Given the description of an element on the screen output the (x, y) to click on. 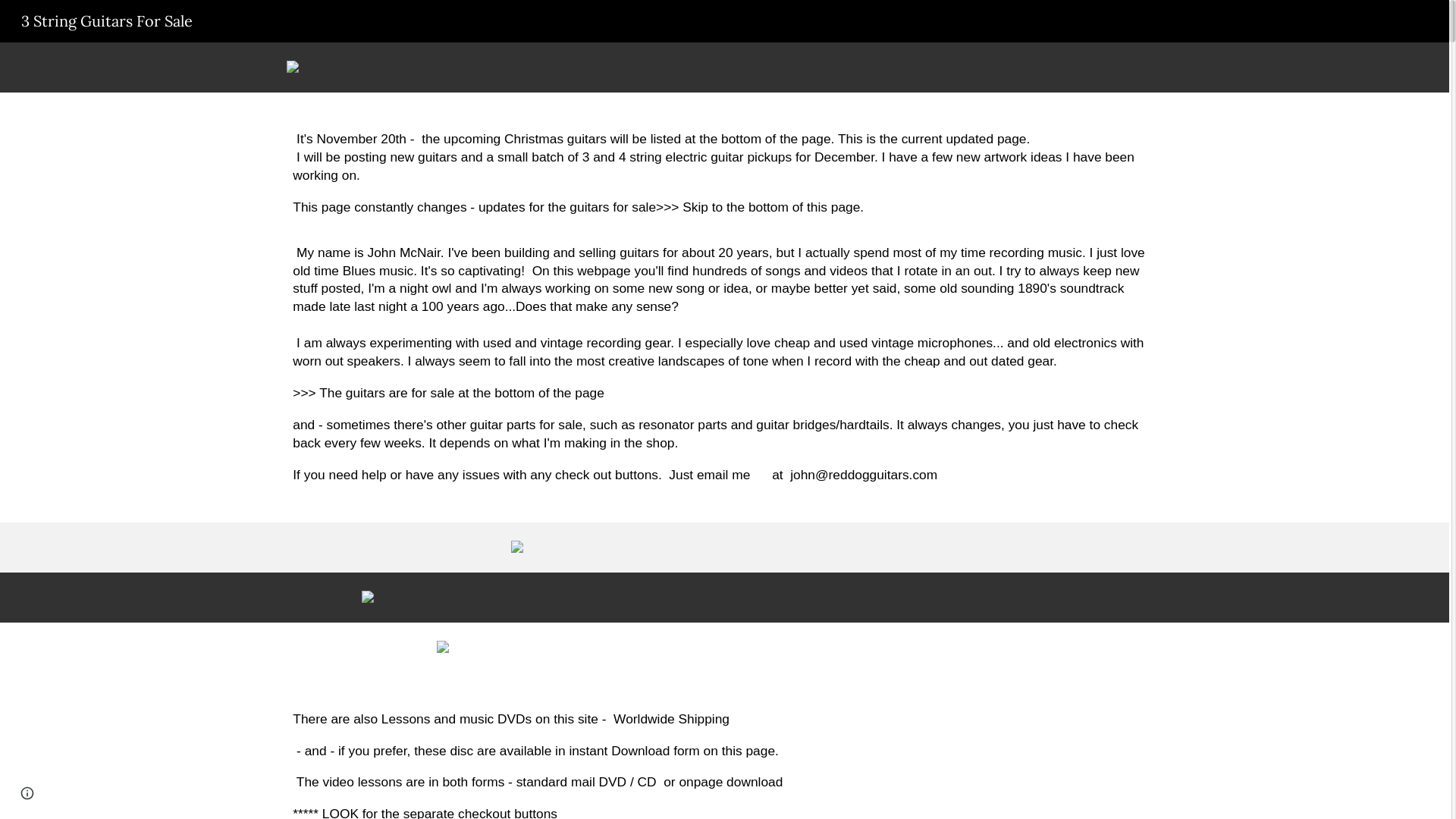
3 String Guitars For Sale Element type: text (106, 18)
